Given the description of an element on the screen output the (x, y) to click on. 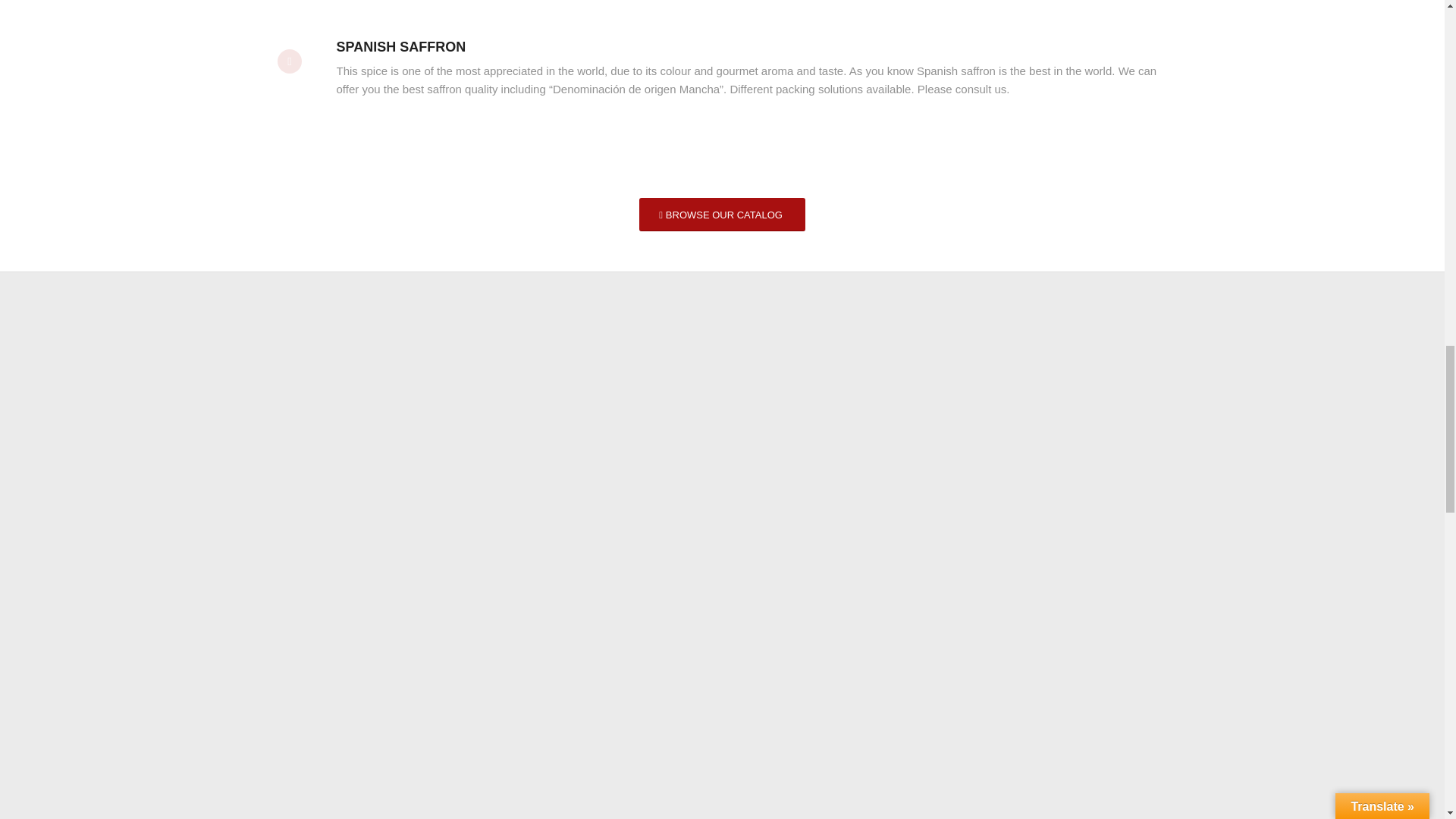
BROWSE OUR CATALOG (722, 214)
